Given the description of an element on the screen output the (x, y) to click on. 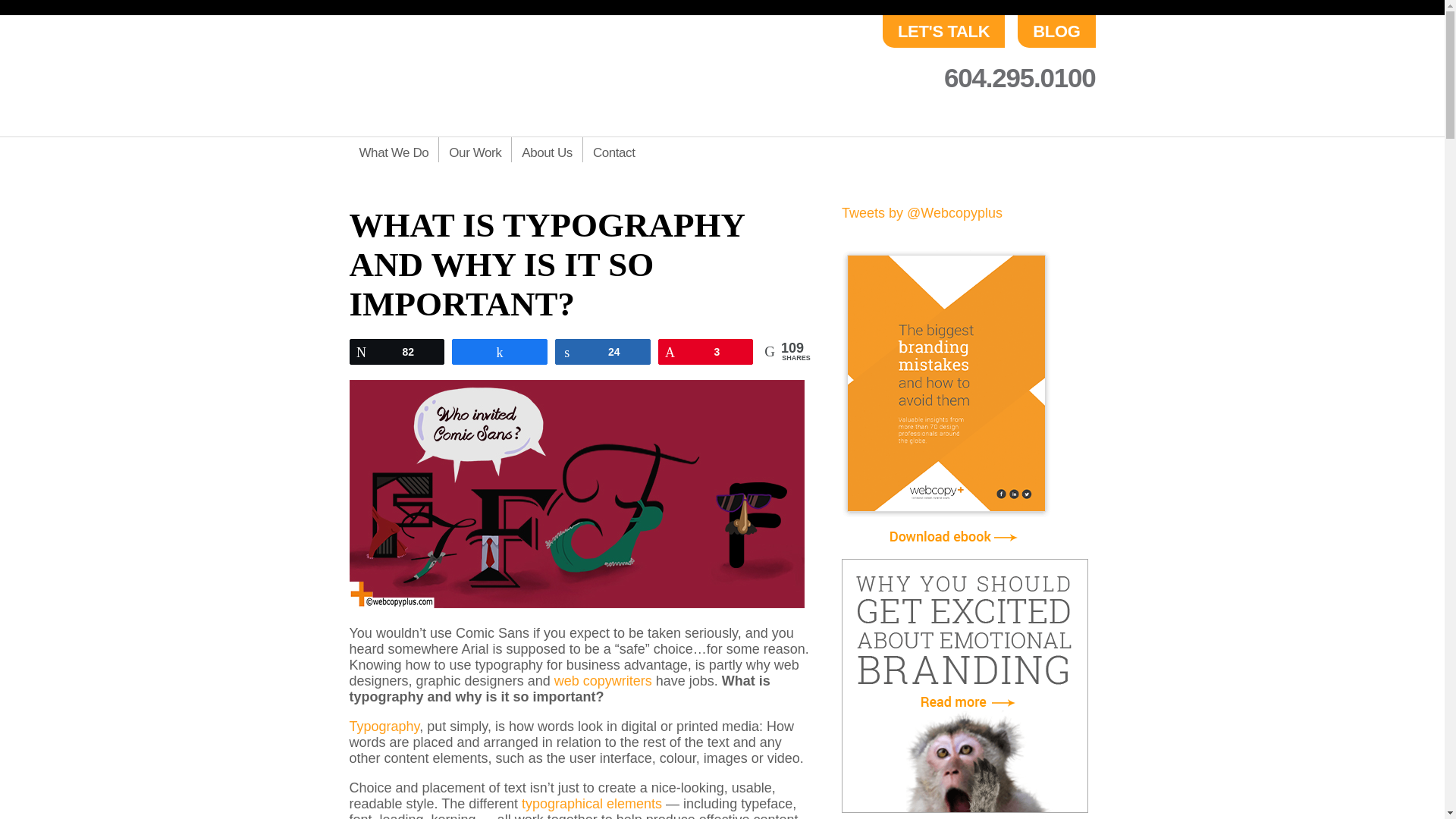
Contact (613, 149)
About Us (546, 149)
Permalink to WHAT IS TYPOGRAPHY AND WHY IS IT SO IMPORTANT? (546, 264)
Facebook (1053, 115)
Twitter (1023, 115)
Typography (384, 726)
3 (705, 350)
LinkedIn (1082, 115)
Our Work (474, 149)
web copywriters (603, 680)
